Given the description of an element on the screen output the (x, y) to click on. 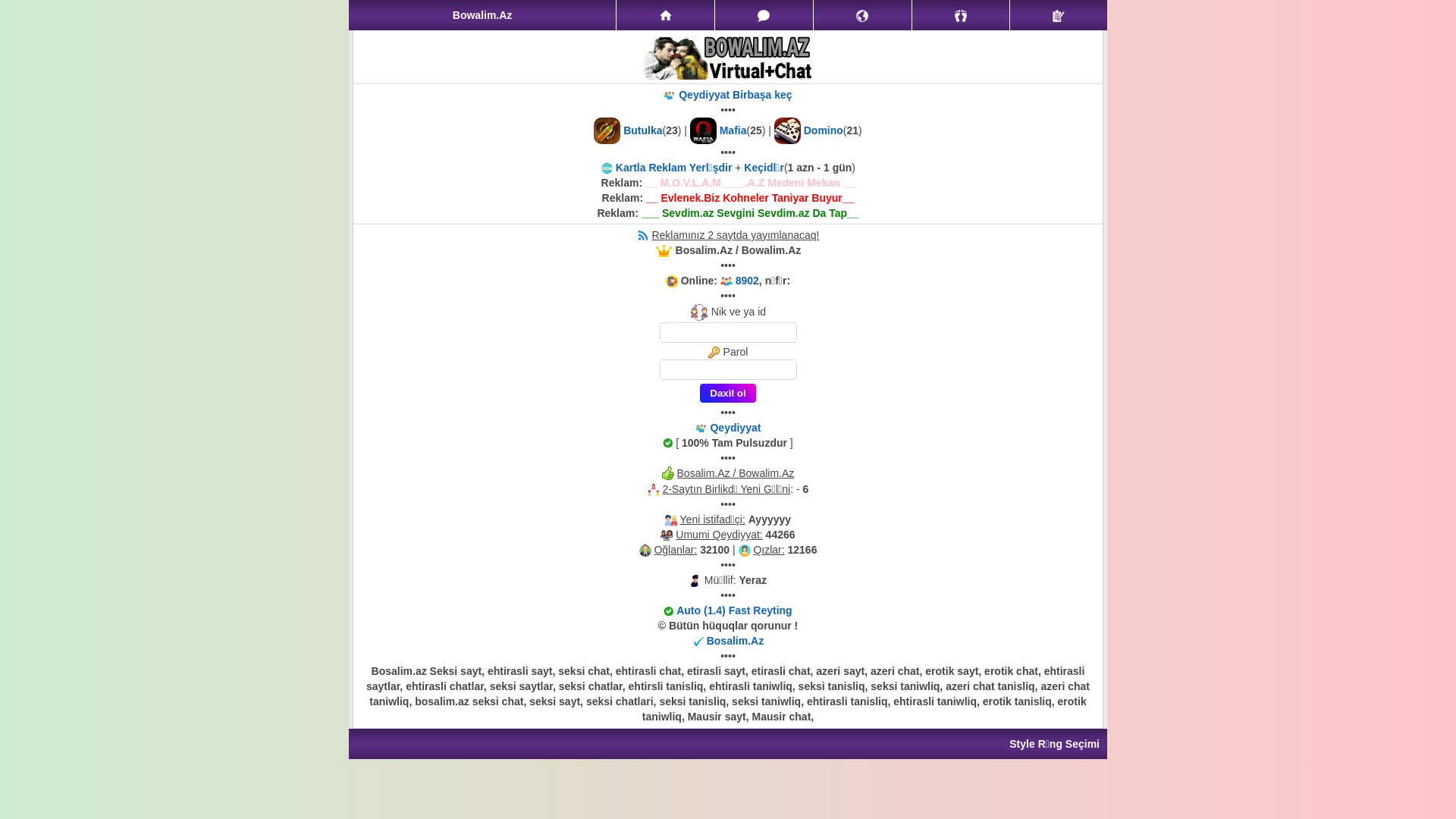
Daxil ol Element type: text (727, 392)
Mesajlar Element type: hover (763, 15)
Butulka Element type: text (642, 130)
8902 Element type: text (747, 280)
Auto (1.4) Fast Reyting Element type: text (733, 610)
nick Element type: hover (728, 332)
Bosalim.Az Element type: text (734, 640)
Qeydiyyat Element type: hover (1058, 15)
__ M.O.V.L.A.M____.A.Z Medeni Mekan __ Element type: text (749, 182)
Domino Element type: text (823, 130)
Qonaqlar Element type: hover (961, 15)
Qeydiyyat Element type: text (734, 427)
Bildirisler Element type: hover (862, 15)
Mafia Element type: text (732, 130)
Parol Element type: hover (728, 369)
___ Sevdim.az Sevgini Sevdim.az Da Tap__ Element type: text (750, 213)
__ Evlenek.Biz Kohneler Taniyar Buyur__ Element type: text (749, 197)
